Given the description of an element on the screen output the (x, y) to click on. 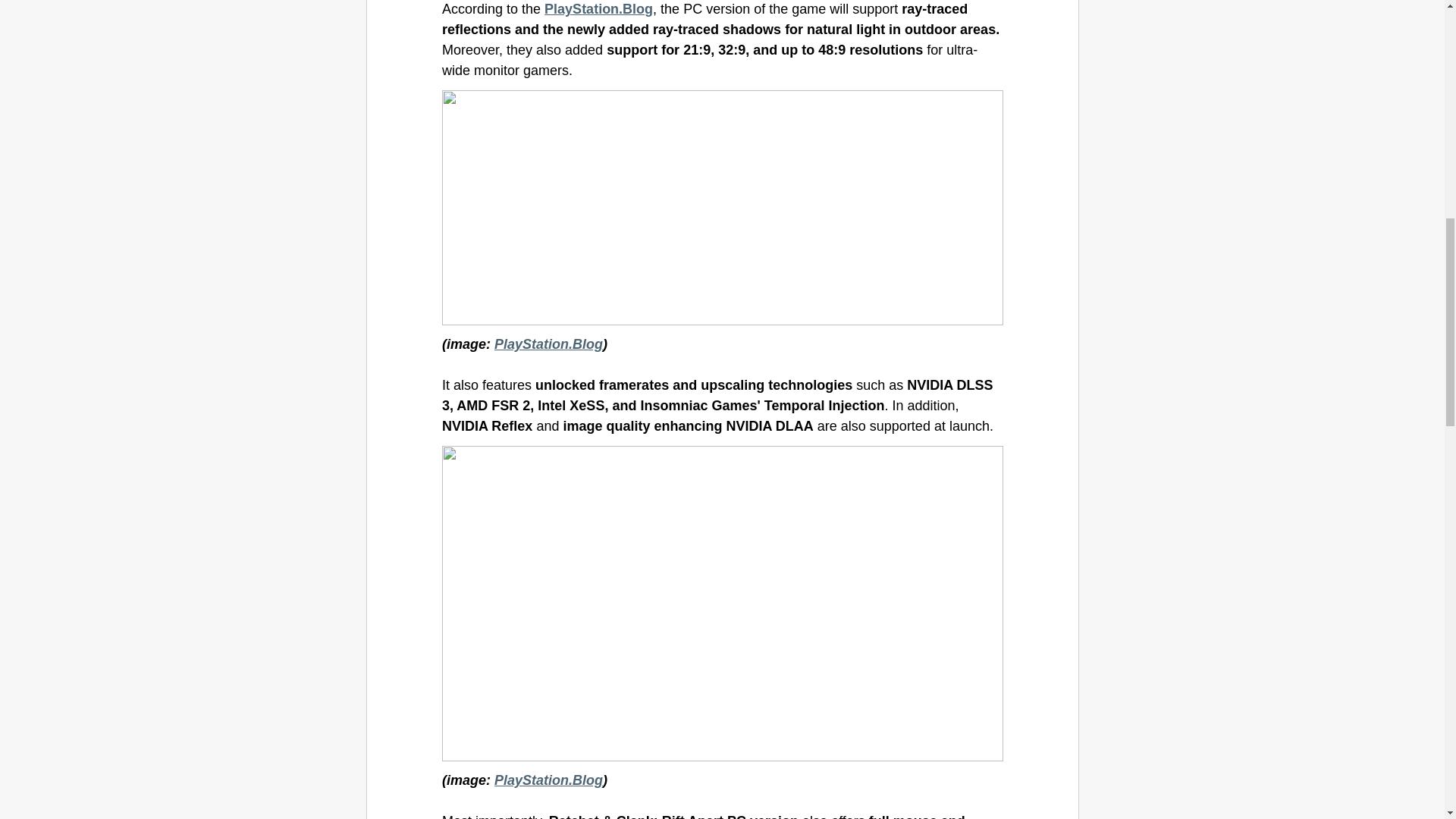
PlayStation.Blog (548, 344)
PlayStation.Blog (598, 8)
PlayStation.Blog (548, 780)
